Given the description of an element on the screen output the (x, y) to click on. 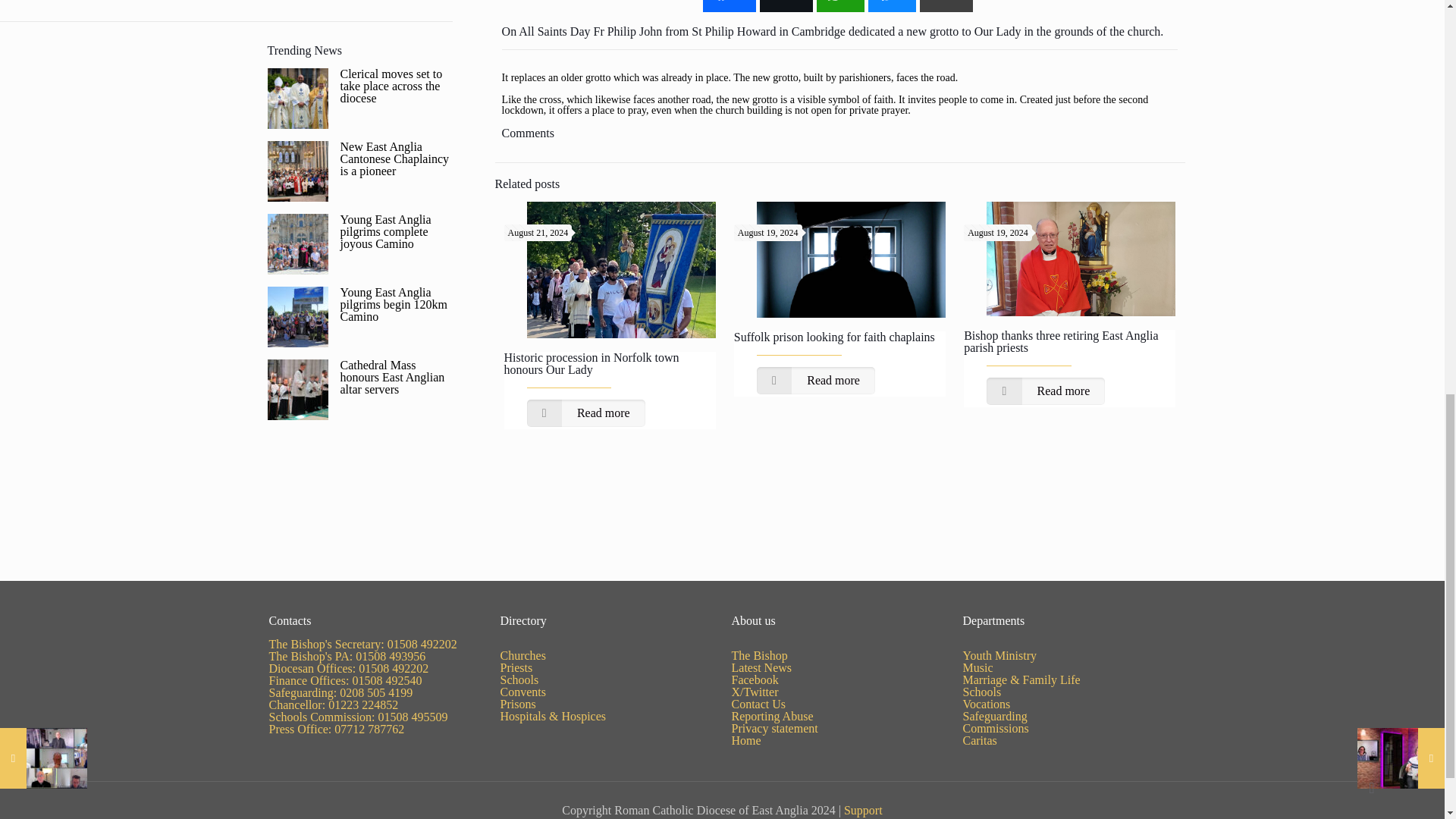
Share on Twitter (786, 6)
Share on WhatsApp (840, 6)
Share on Email (946, 6)
Share on Facebook (729, 6)
Share on Facebook Messenger (891, 6)
